Given the description of an element on the screen output the (x, y) to click on. 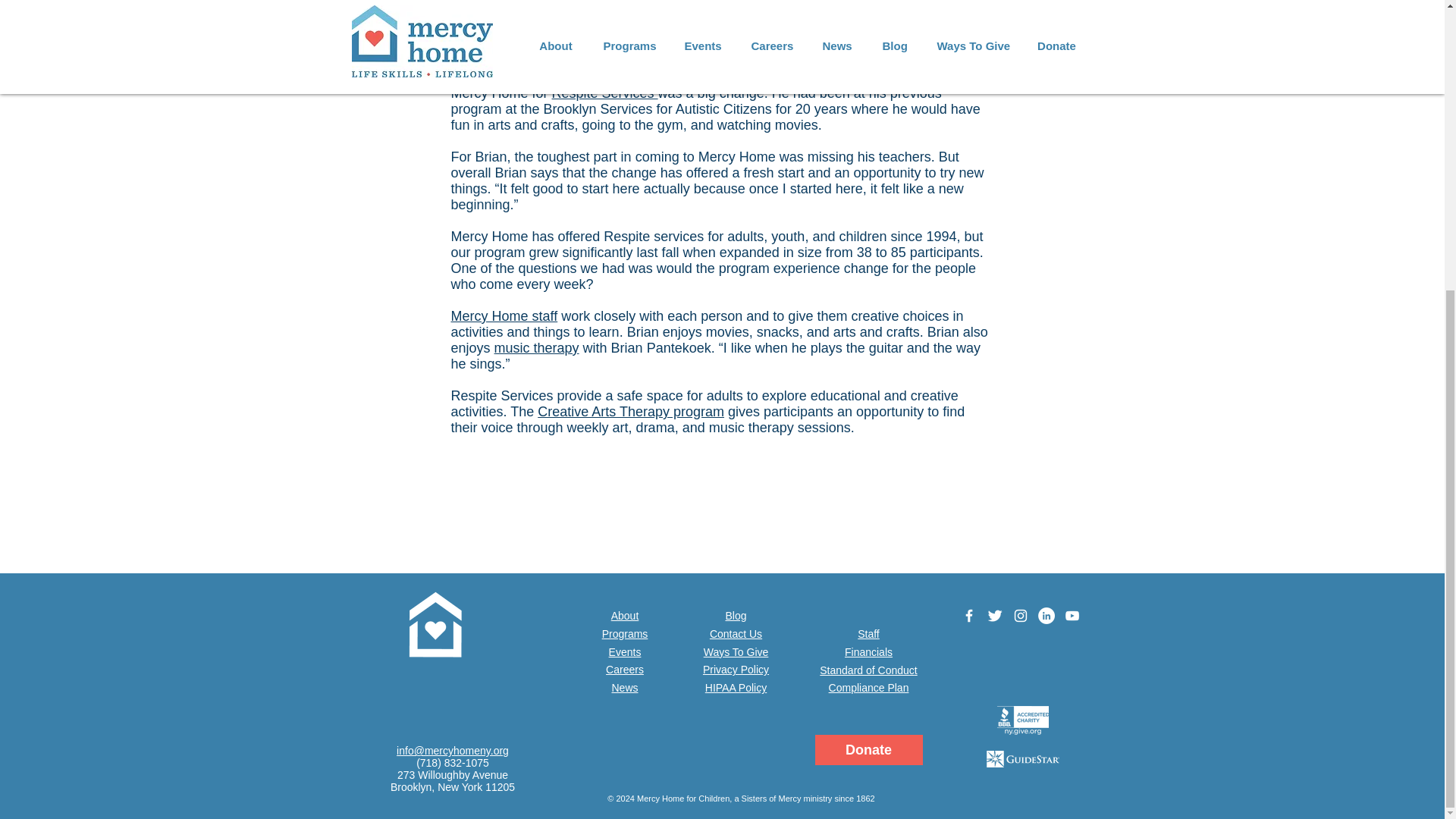
About (625, 615)
Programs (624, 633)
Creative Arts Therapy program (630, 411)
Mercy Home staff (503, 315)
Respite Services (604, 92)
Events (625, 652)
News (624, 687)
music therapy (537, 347)
Careers (624, 669)
